Given the description of an element on the screen output the (x, y) to click on. 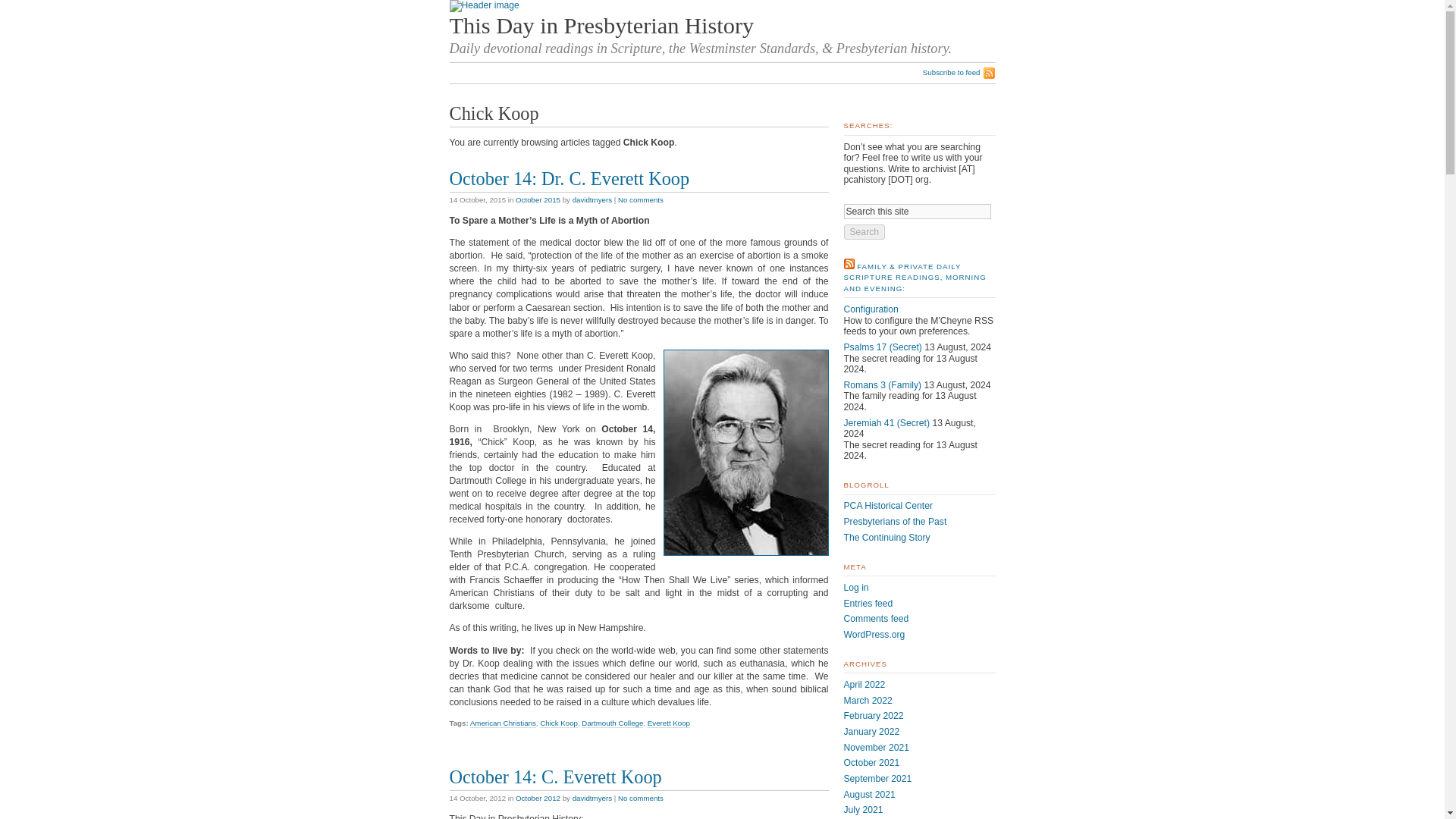
Permanent link to October 14: C. Everett Koop (554, 776)
Dartmouth College (611, 723)
Search (864, 231)
WordPress.org (873, 634)
October 14: C. Everett Koop (554, 776)
October 2015 (537, 199)
Comments feed (875, 618)
Return to main page (601, 25)
PCA Historical Center (888, 505)
davidtmyers (591, 797)
